Given the description of an element on the screen output the (x, y) to click on. 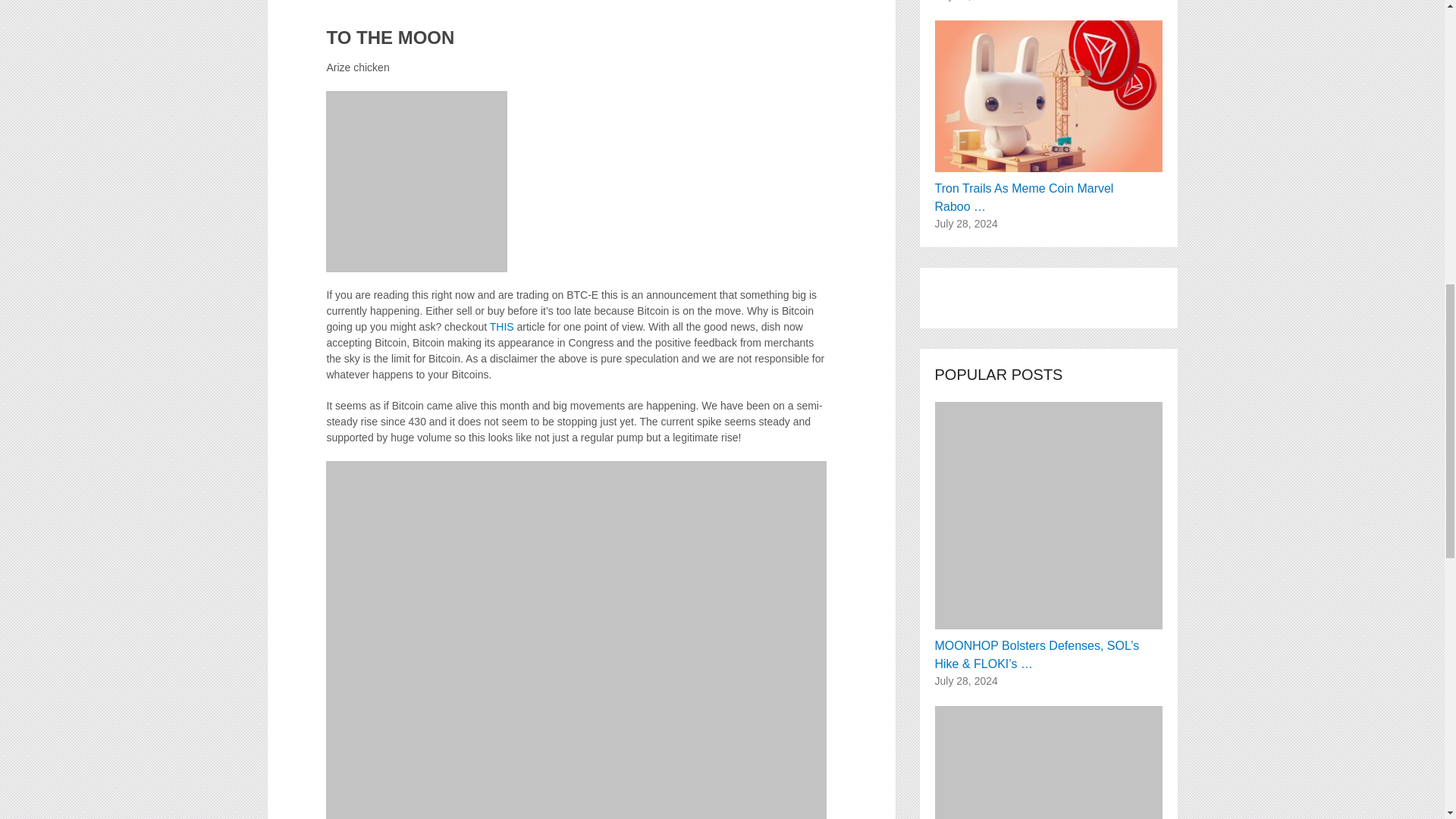
THIS (501, 326)
Why is bitcoin rising (501, 326)
